Given the description of an element on the screen output the (x, y) to click on. 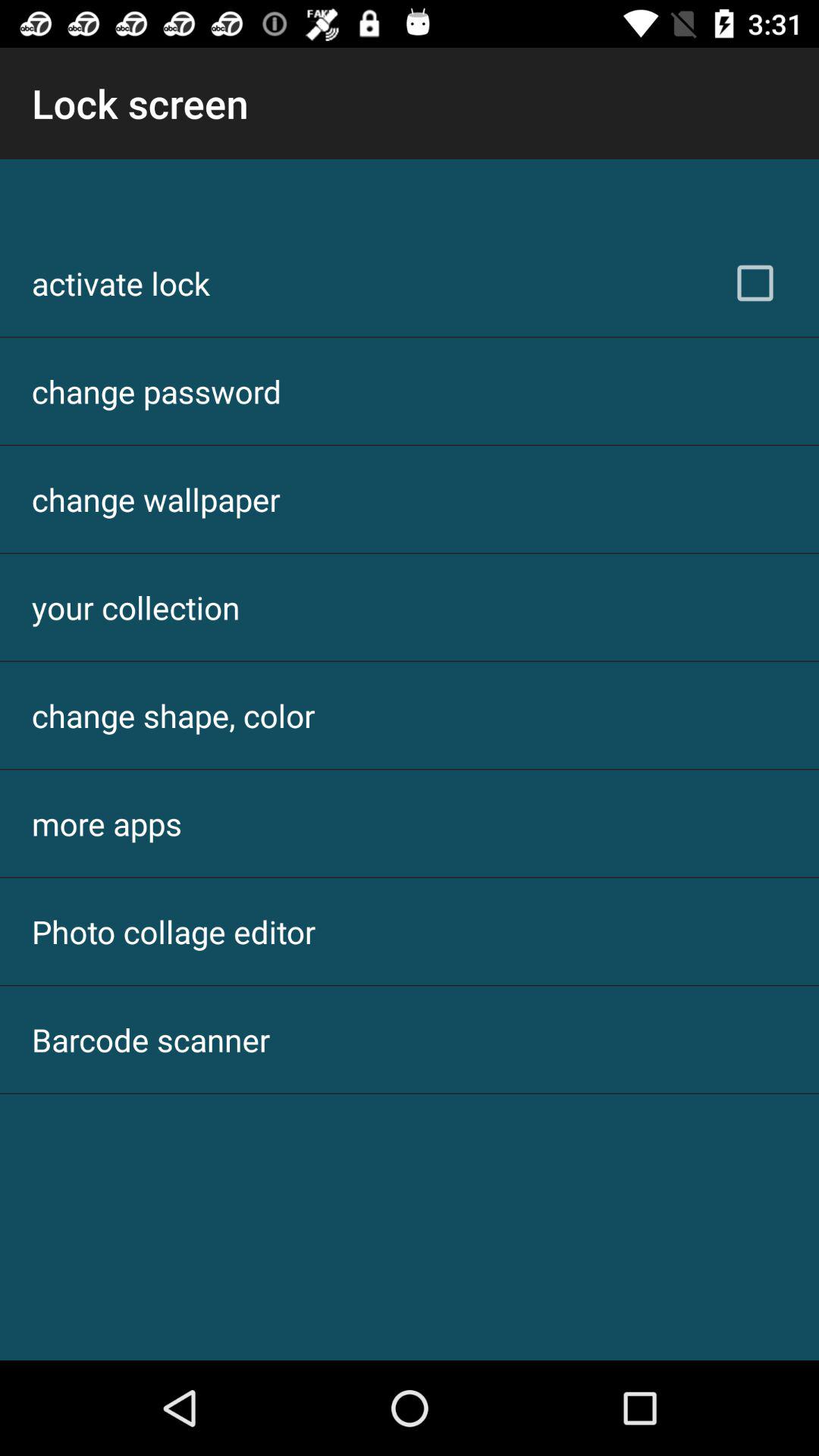
launch the barcode scanner item (150, 1039)
